Given the description of an element on the screen output the (x, y) to click on. 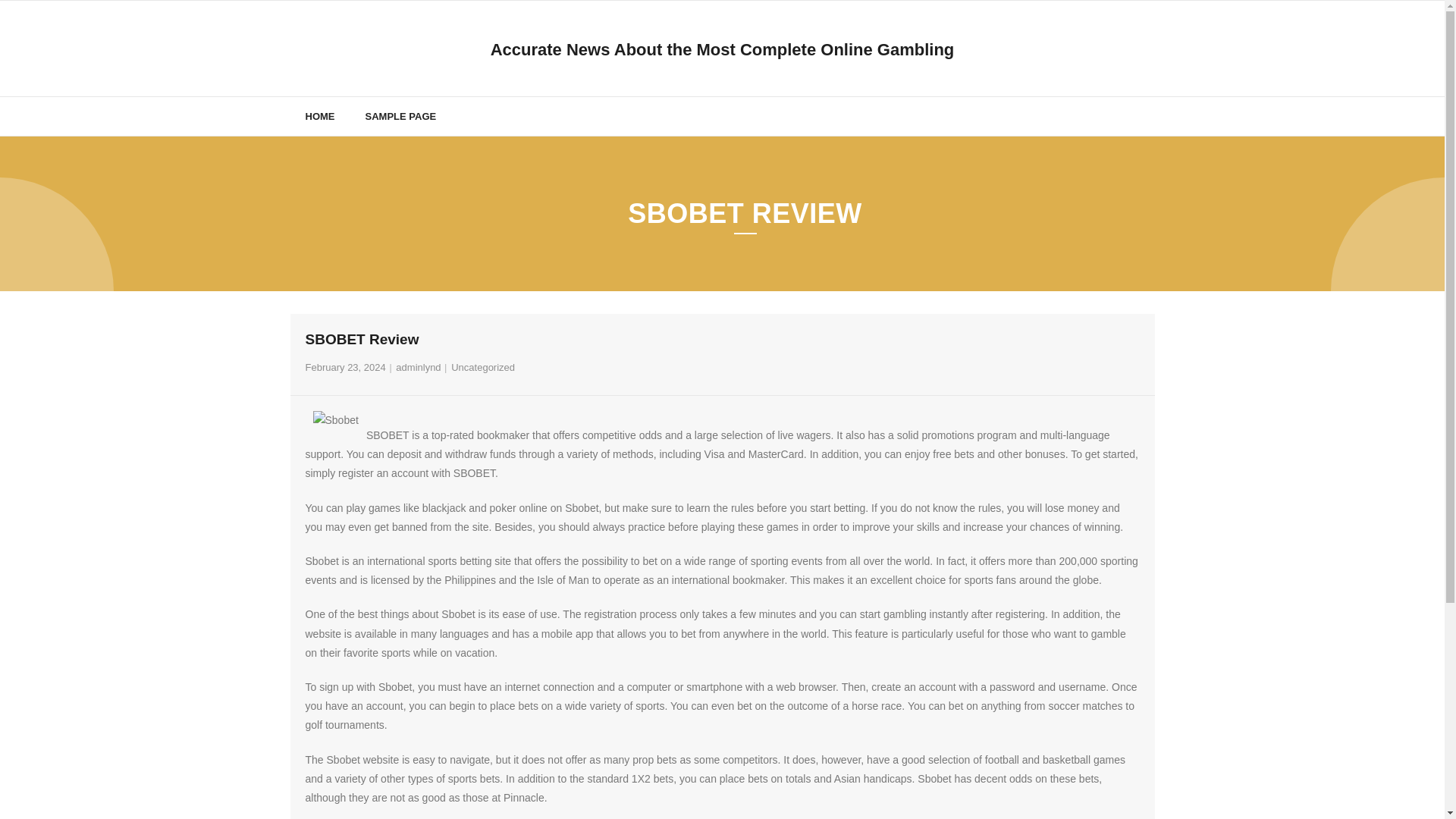
SBOBET Review (344, 367)
Accurate News About the Most Complete Online Gambling (722, 50)
HOME (319, 116)
SAMPLE PAGE (400, 116)
adminlynd (418, 367)
Uncategorized (483, 367)
View all posts by adminlynd (418, 367)
Accurate News About the Most Complete Online Gambling (722, 50)
February 23, 2024 (344, 367)
